Given the description of an element on the screen output the (x, y) to click on. 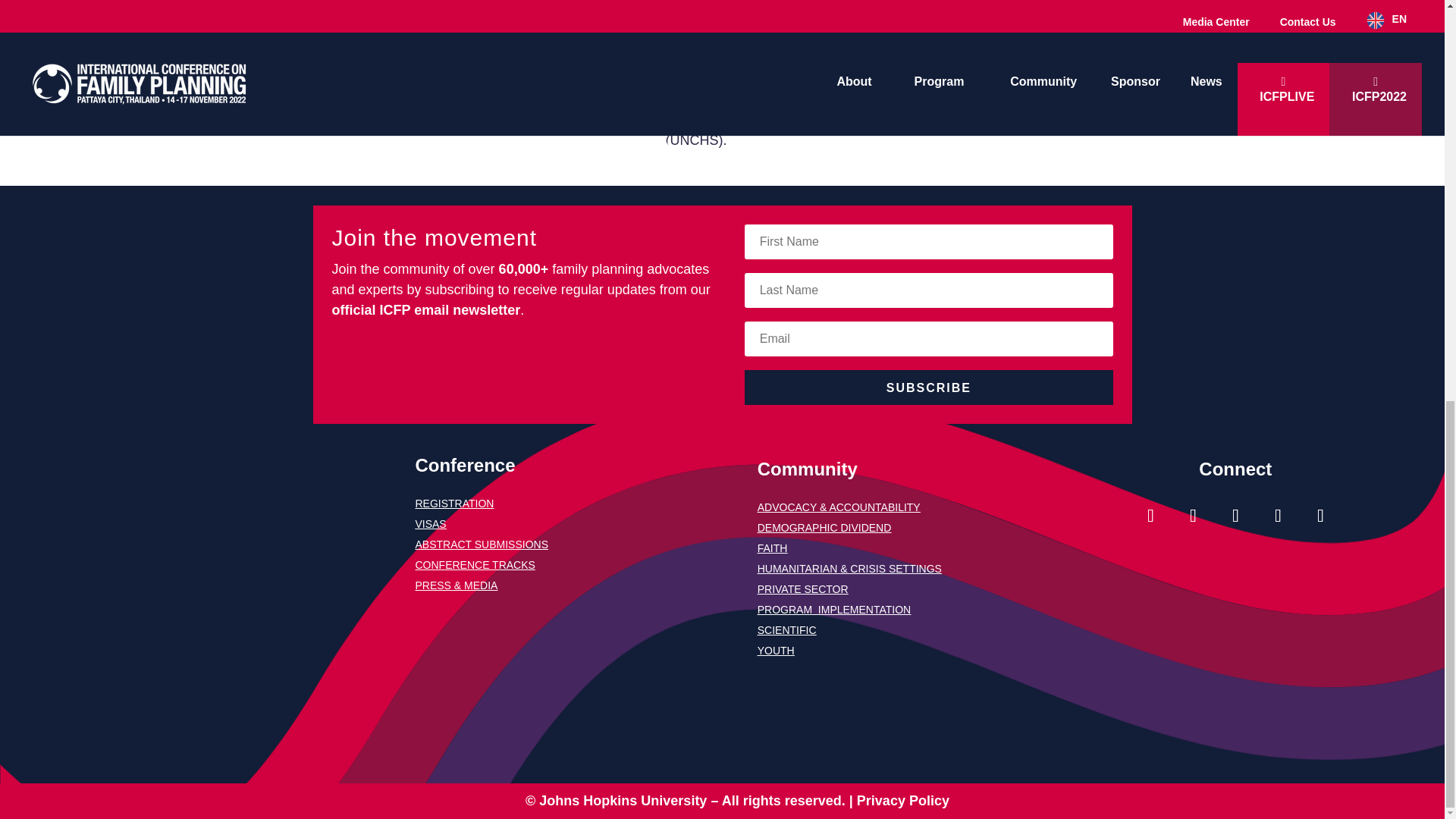
Follow on Facebook (1192, 515)
Follow on Twitter (1235, 515)
Follow on LinkedIn (1319, 515)
Follow on Youtube (1277, 515)
Follow on Instagram (1150, 515)
